Given the description of an element on the screen output the (x, y) to click on. 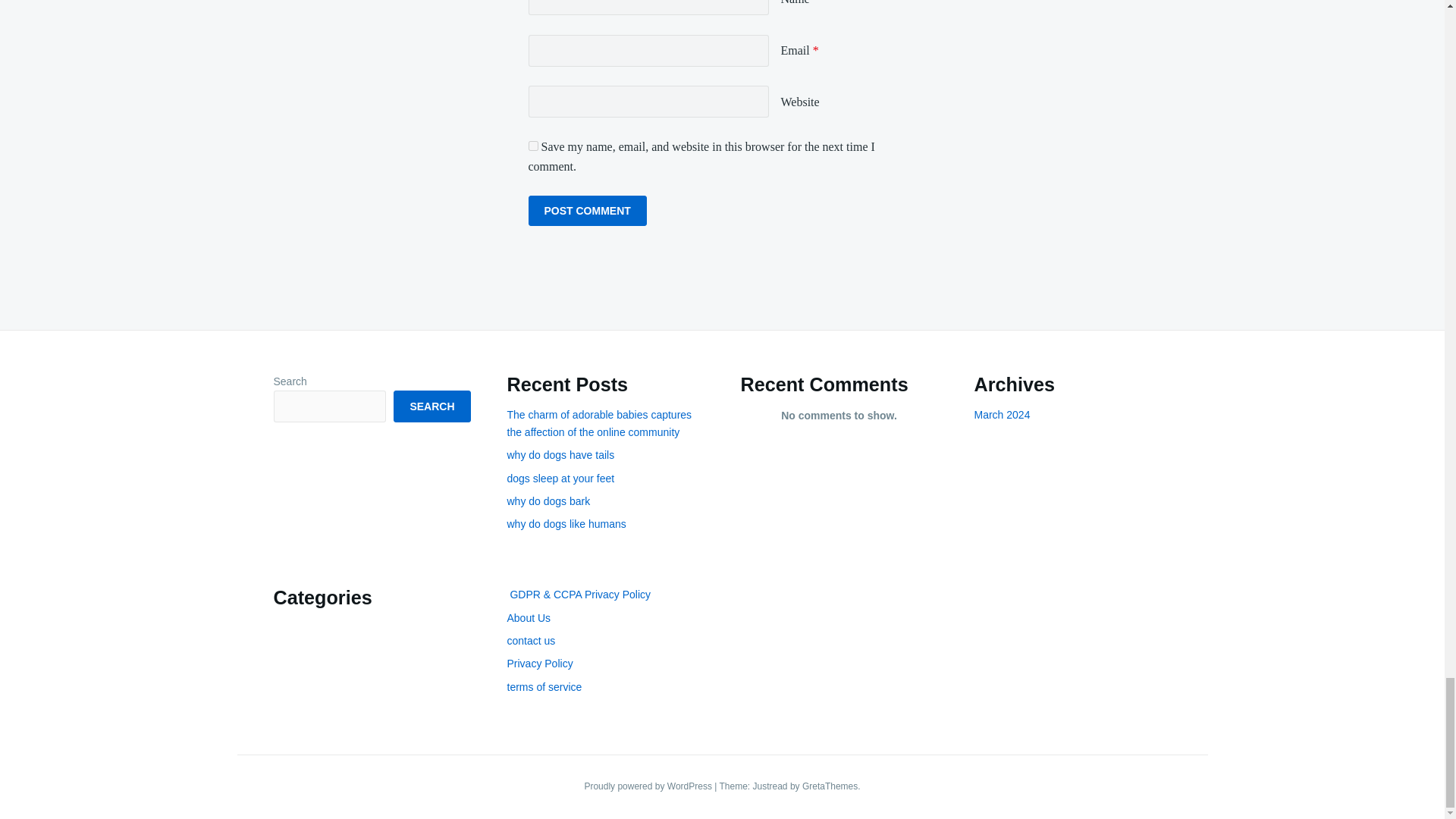
dogs sleep at your feet (560, 478)
Proudly powered by WordPress (648, 786)
Post Comment (586, 210)
terms of service (543, 686)
why do dogs have tails (560, 454)
Post Comment (586, 210)
why do dogs bark (547, 500)
contact us (530, 640)
About Us (528, 617)
March 2024 (1001, 414)
Privacy Policy (539, 663)
SEARCH (431, 406)
GretaThemes (829, 786)
why do dogs like humans (566, 523)
